Given the description of an element on the screen output the (x, y) to click on. 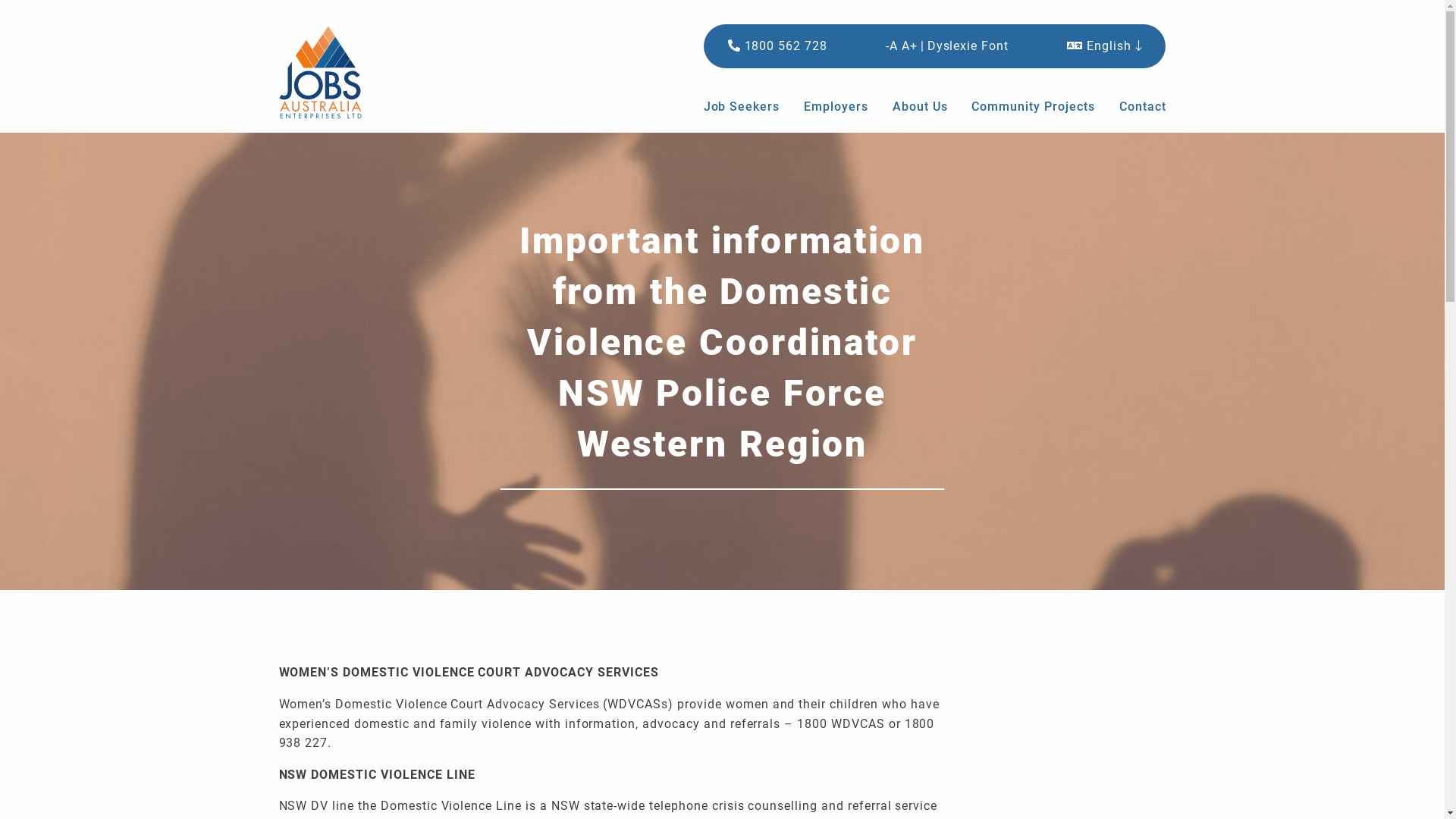
Contact Element type: text (1136, 106)
Dyslexie Font Element type: text (967, 45)
Employers Element type: text (835, 106)
English Element type: text (1104, 45)
1800 562 728 Element type: text (777, 45)
A+ Element type: text (909, 45)
Community Projects Element type: text (1032, 106)
Jobs Australia Enterprises Element type: text (343, 72)
Job Seekers Element type: text (747, 106)
-A Element type: text (891, 45)
About Us Element type: text (920, 106)
